Given the description of an element on the screen output the (x, y) to click on. 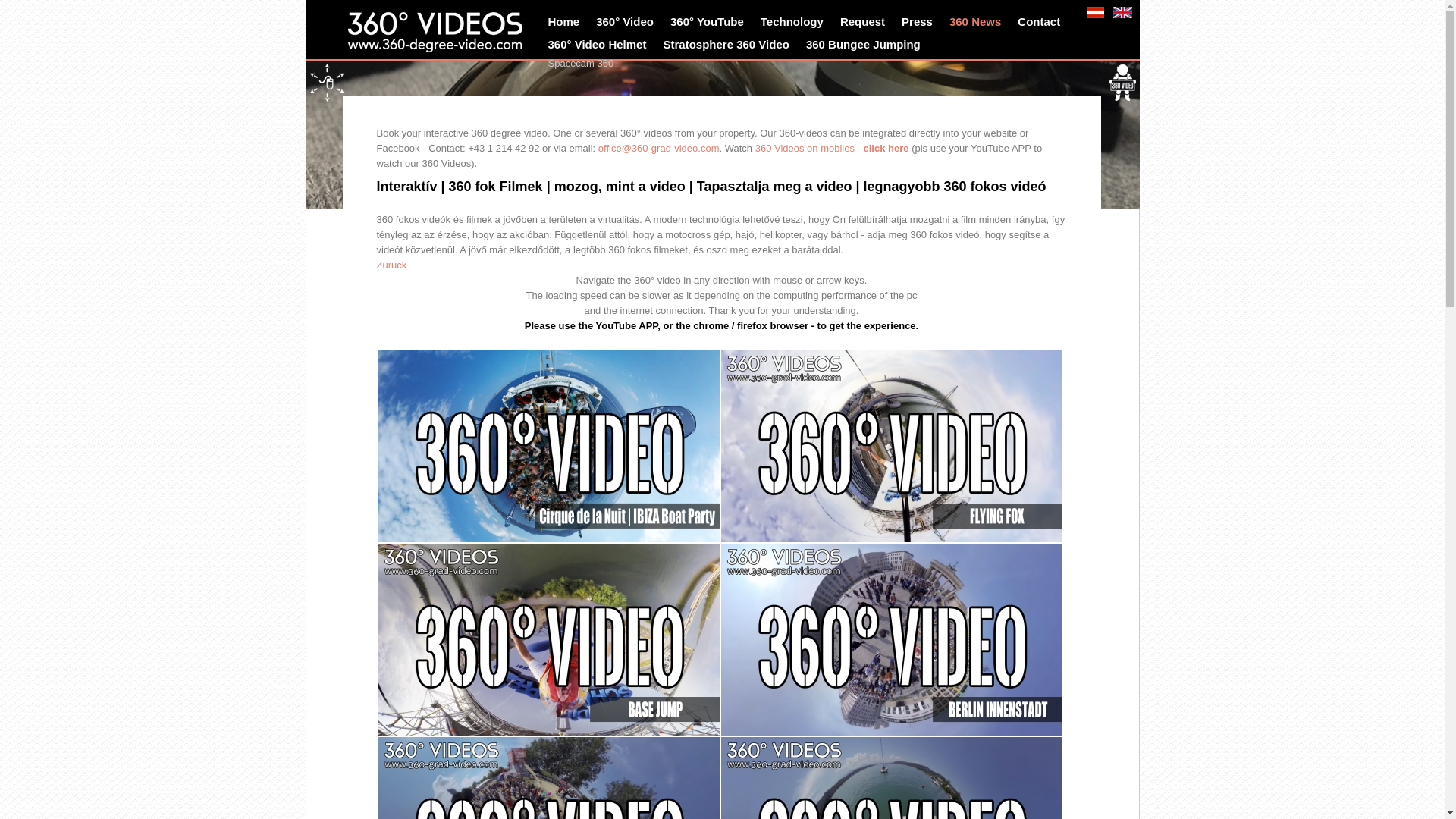
360 Videos on mobiles - Element type: text (809, 147)
English Element type: hover (1122, 12)
Technology Element type: text (794, 21)
Stratosphere 360 Video Element type: text (728, 44)
Deutsch Element type: hover (1094, 12)
click here Element type: text (886, 147)
office@360-grad-video.com Element type: text (658, 147)
360 News Element type: text (978, 21)
Spacecam 360 Element type: text (580, 63)
Press Element type: text (919, 21)
Contact Element type: text (1041, 21)
Request Element type: text (865, 21)
home Element type: hover (465, 35)
Home Element type: text (566, 21)
360 Bungee Jumping Element type: text (866, 44)
